Given the description of an element on the screen output the (x, y) to click on. 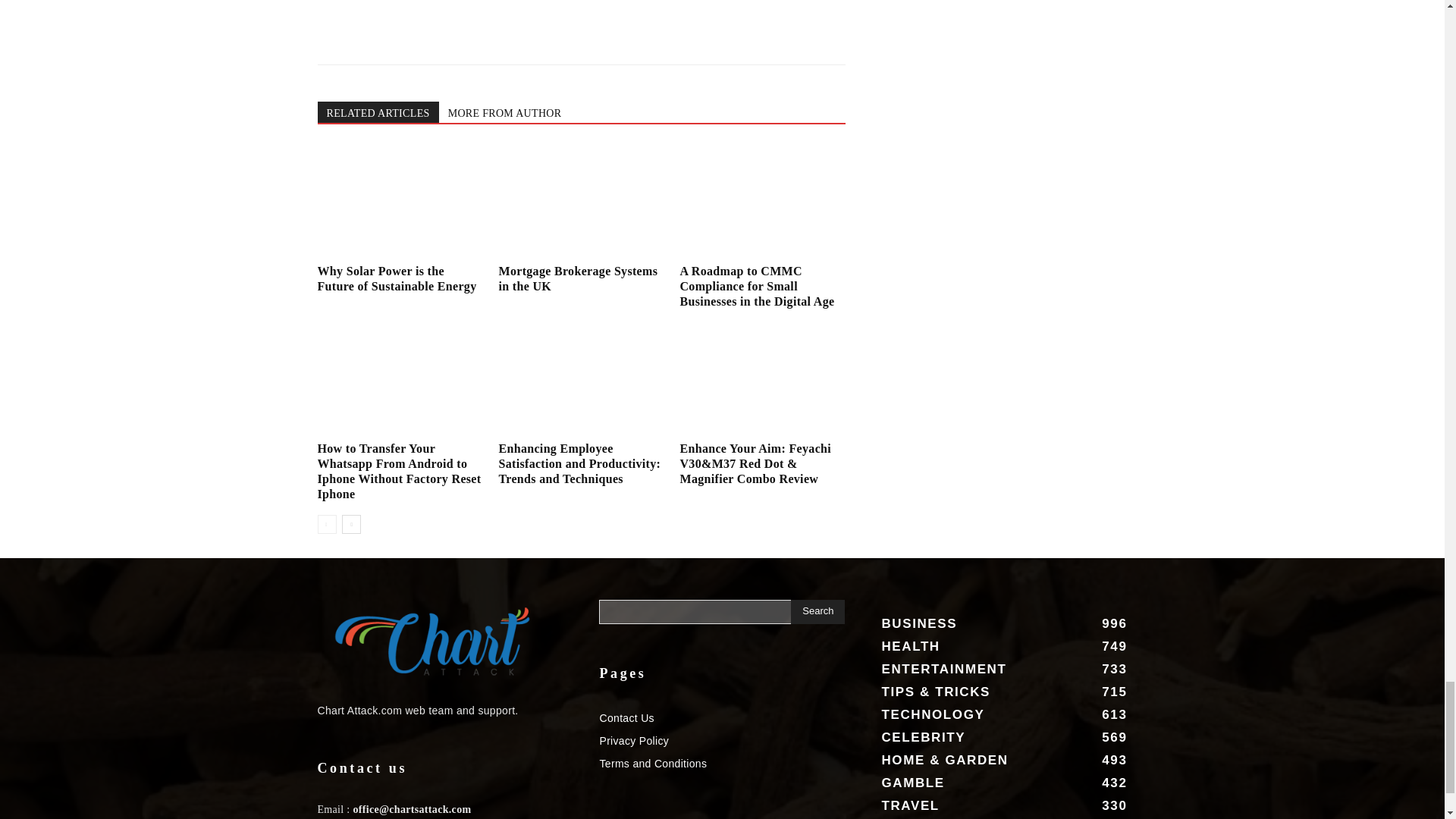
Why Solar Power is the Future of Sustainable Energy (396, 278)
Mortgage Brokerage Systems in the UK (580, 201)
Search (817, 611)
Mortgage Brokerage Systems in the UK (577, 278)
Why Solar Power is the Future of Sustainable Energy (399, 201)
